Given the description of an element on the screen output the (x, y) to click on. 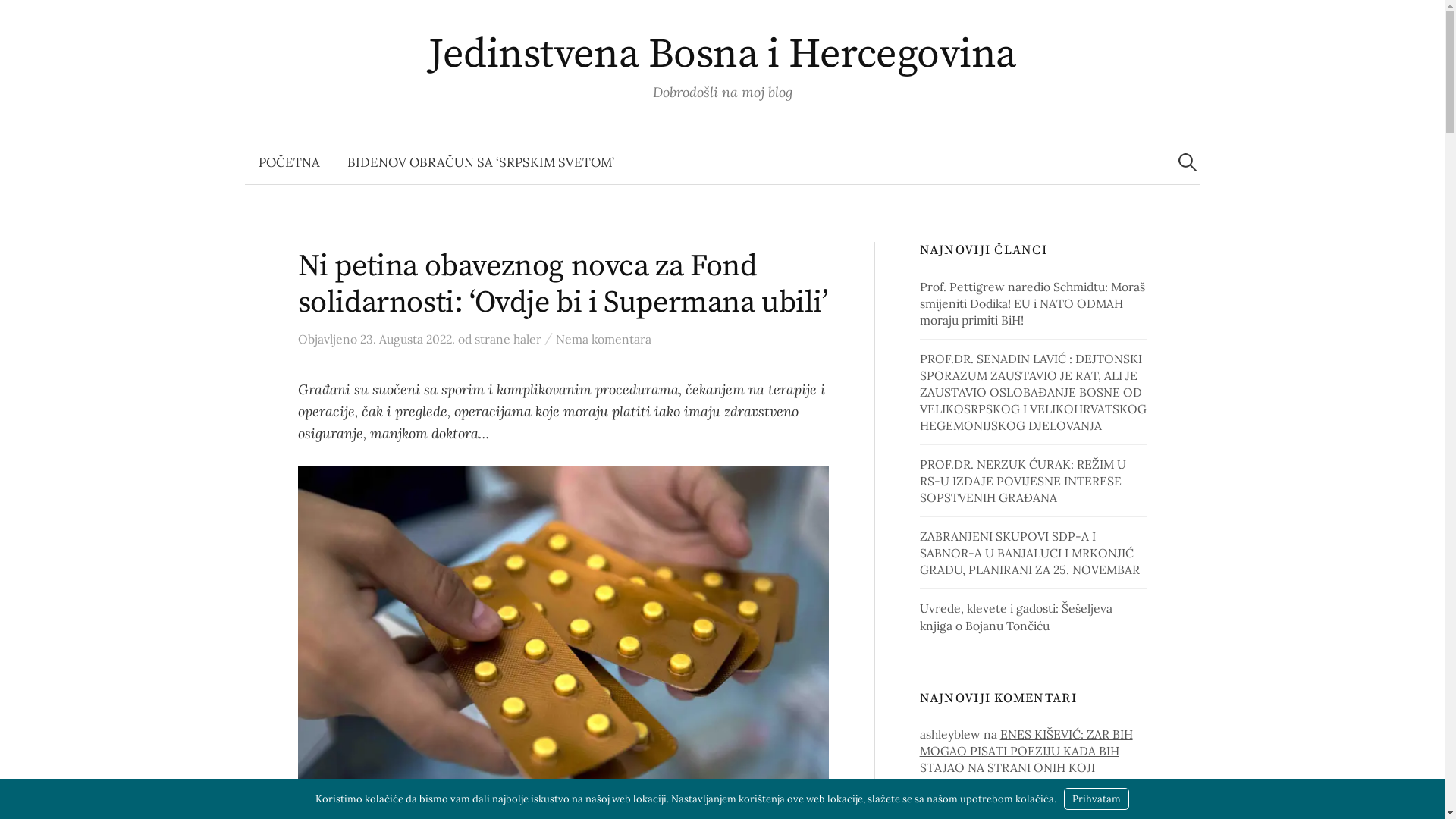
Prihvatam Element type: text (1096, 798)
Jedinstvena Bosna i Hercegovina Element type: text (721, 54)
haler Element type: text (526, 339)
Pretraga Element type: text (18, 18)
23. Augusta 2022. Element type: text (406, 339)
